Given the description of an element on the screen output the (x, y) to click on. 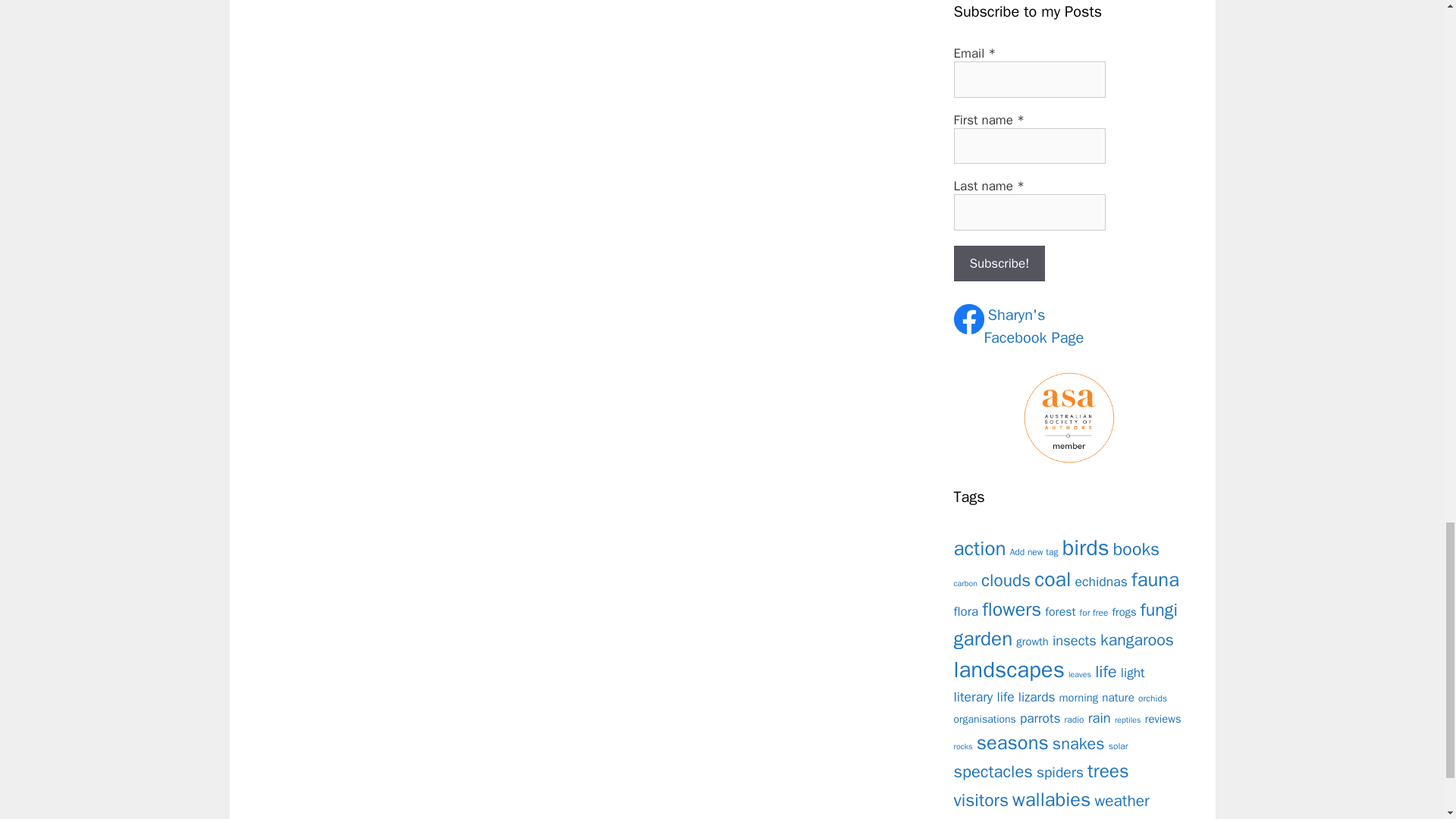
flora (965, 611)
birds (1085, 547)
fauna (1155, 579)
carbon (965, 583)
coal (1034, 326)
clouds (1051, 579)
Subscribe! (1005, 580)
echidnas (999, 263)
Last name (1100, 581)
